Given the description of an element on the screen output the (x, y) to click on. 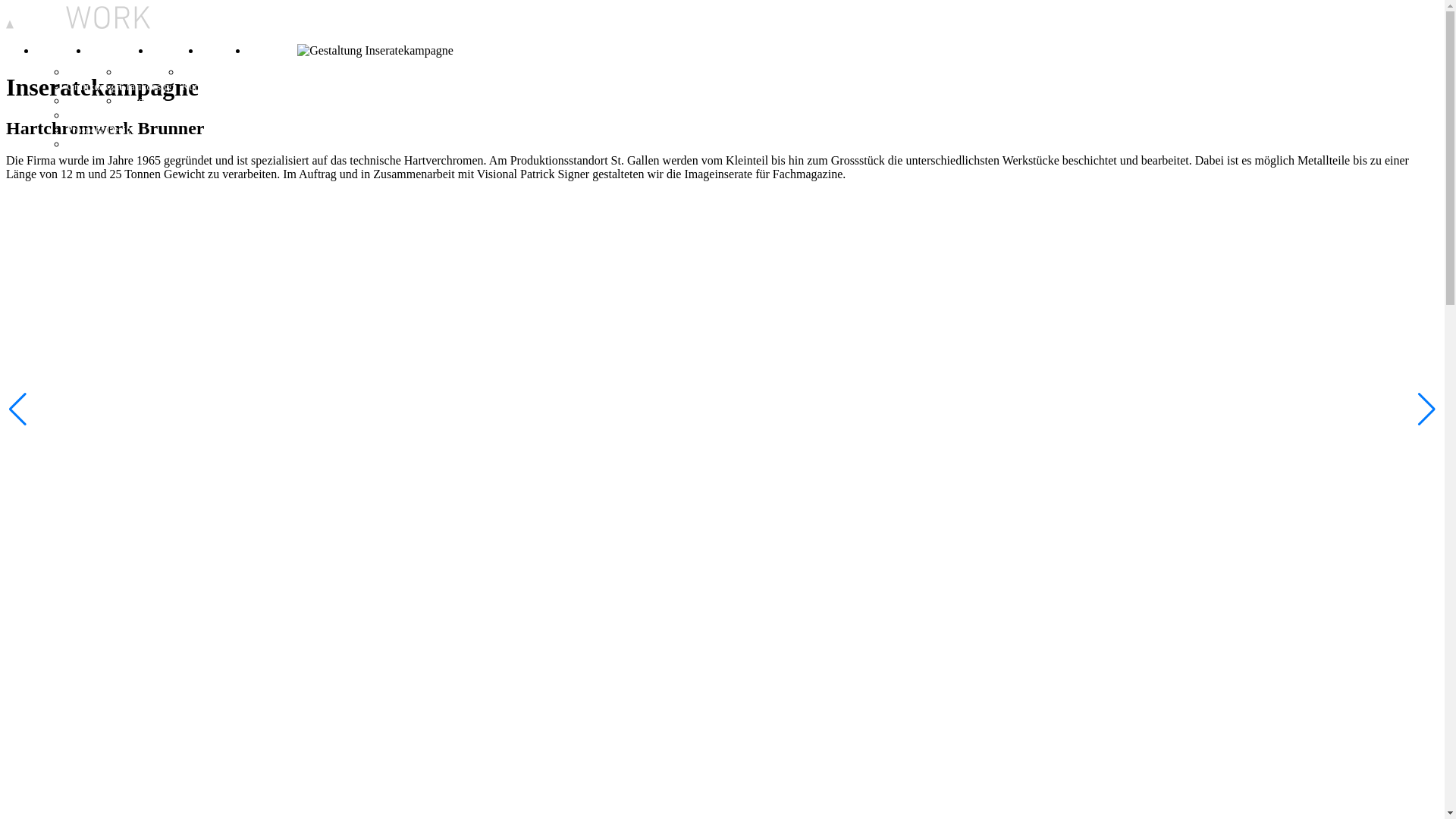
Aktuell Element type: text (216, 50)
Webdesign Element type: text (142, 100)
Visuelle Kommunikation Element type: text (172, 71)
Corporate Design Element type: text (103, 71)
Logo Design Element type: text (94, 115)
Arbeiten Element type: text (54, 50)
Grafikdesign Element type: text (94, 86)
Webdesign Element type: text (89, 100)
Kontakt Element type: text (264, 50)
Editorial Design Element type: text (101, 143)
Grafikdesign Element type: text (146, 86)
Kunden Element type: text (197, 86)
Prospekt Design Element type: text (101, 129)
Leistungen Element type: text (111, 50)
Agentur Element type: text (167, 50)
